Given the description of an element on the screen output the (x, y) to click on. 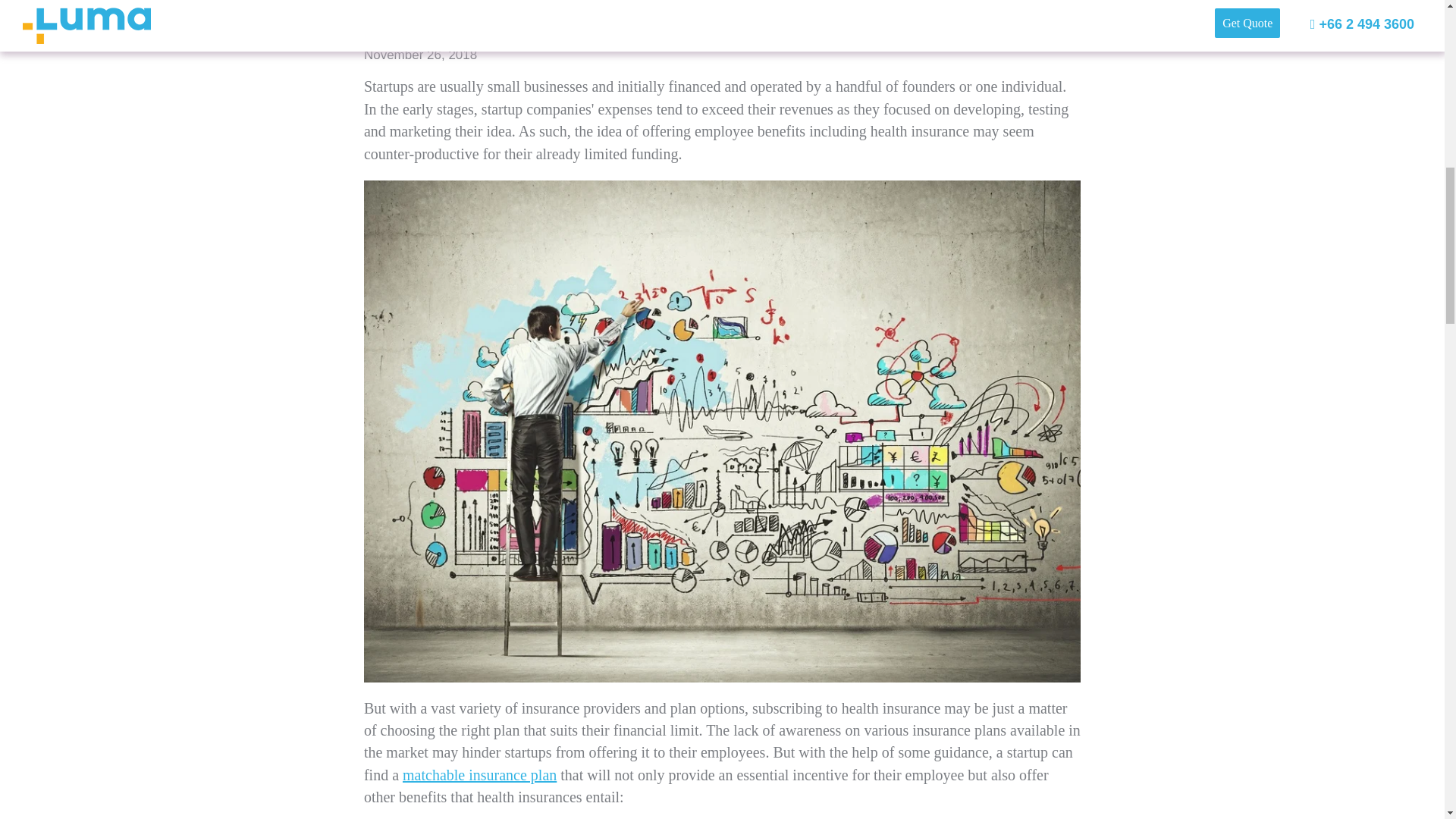
Helma H (450, 32)
matchable insurance plan (479, 774)
